Given the description of an element on the screen output the (x, y) to click on. 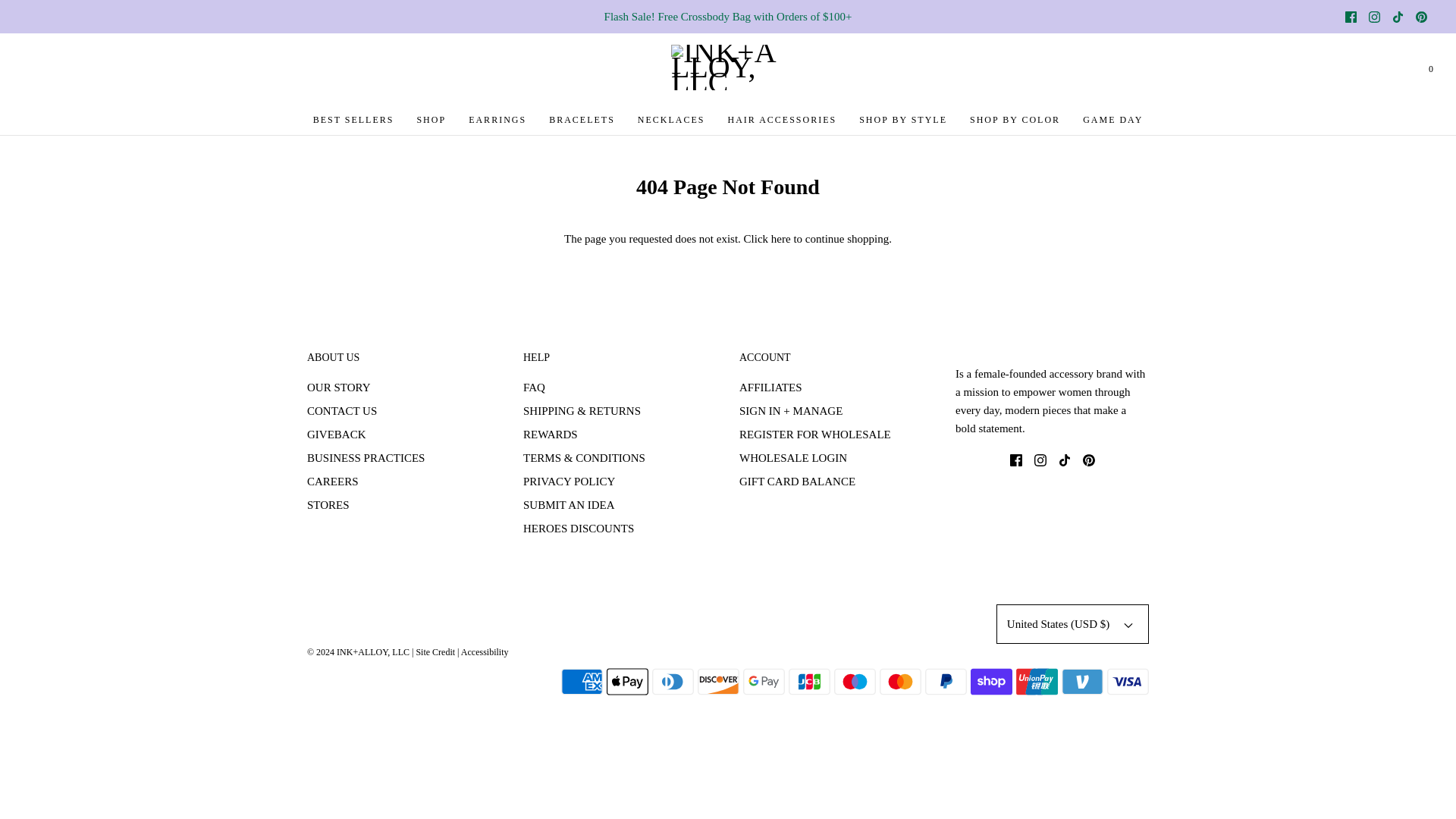
Pinterest icon (1088, 460)
Zettler Digital (434, 652)
BEST SELLERS (353, 120)
SHOP (430, 120)
TikTok icon (1064, 460)
Maestro (855, 681)
Instagram icon (1039, 460)
Google Pay (763, 681)
Facebook icon (1016, 460)
Mastercard (900, 681)
Facebook icon (1350, 15)
Pinterest icon (1420, 16)
Discover (718, 681)
PayPal (945, 681)
Facebook icon (1350, 16)
